Given the description of an element on the screen output the (x, y) to click on. 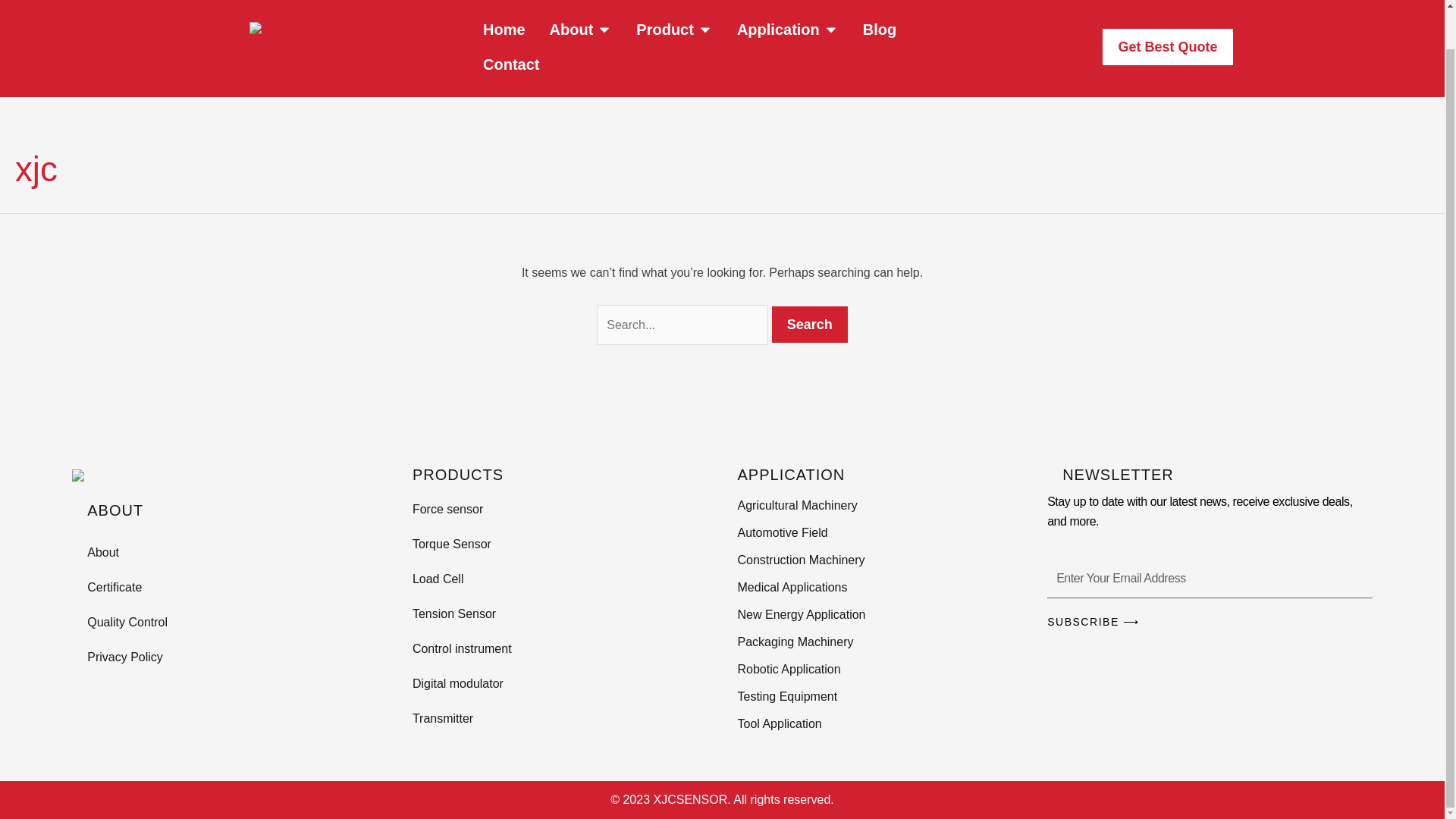
Search (809, 324)
Open About (603, 29)
Open Product (705, 29)
Home (504, 29)
Open Application (831, 29)
Search (809, 324)
